Given the description of an element on the screen output the (x, y) to click on. 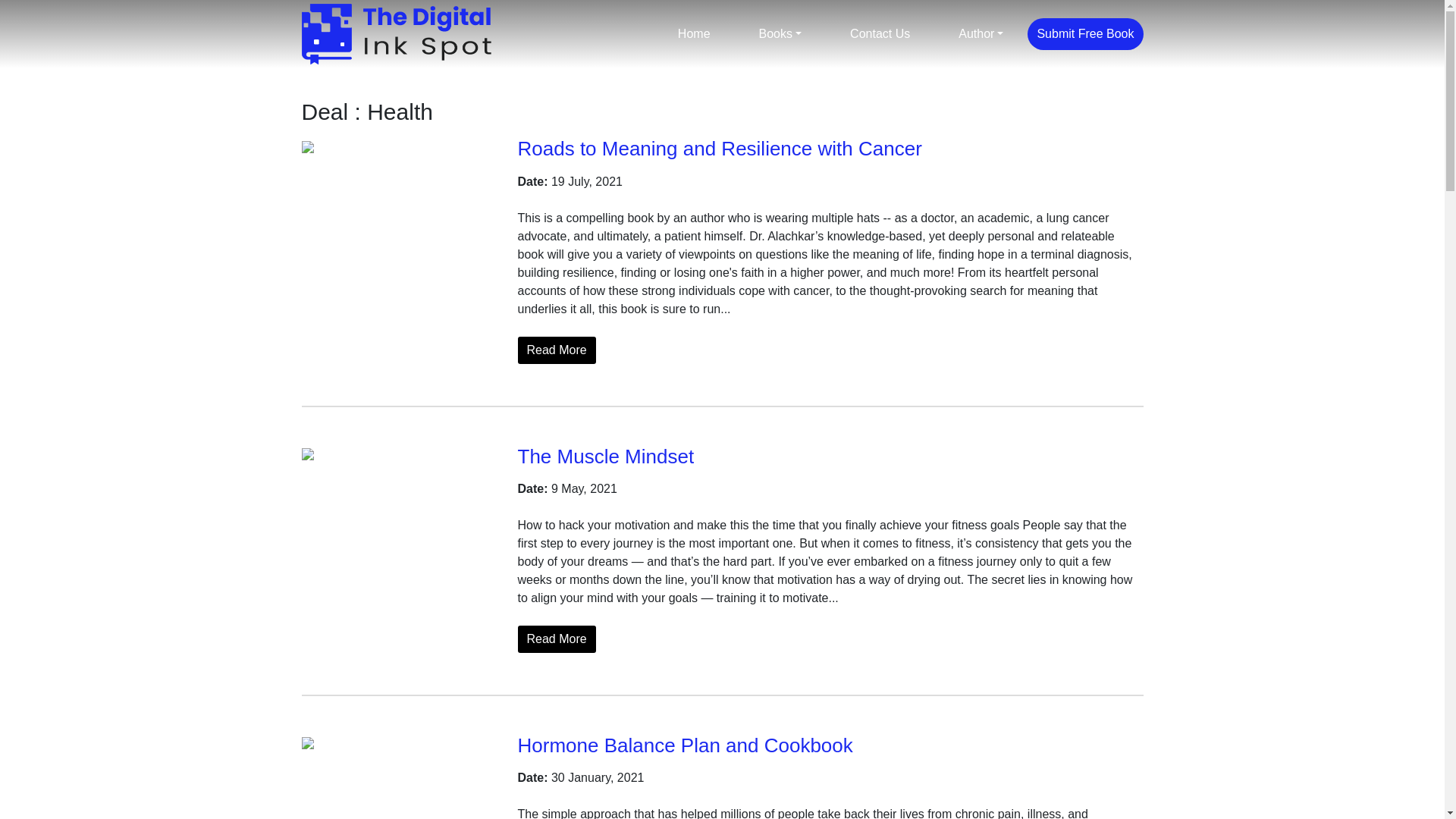
Hormone Balance Plan and Cookbook (683, 744)
Read More (555, 638)
Home (694, 33)
Author (981, 33)
Roads to Meaning and Resilience with Cancer (718, 148)
Submit Free Book (1084, 33)
Contact Us (879, 33)
Books (781, 33)
Read More (555, 349)
The Muscle Mindset (605, 455)
